Given the description of an element on the screen output the (x, y) to click on. 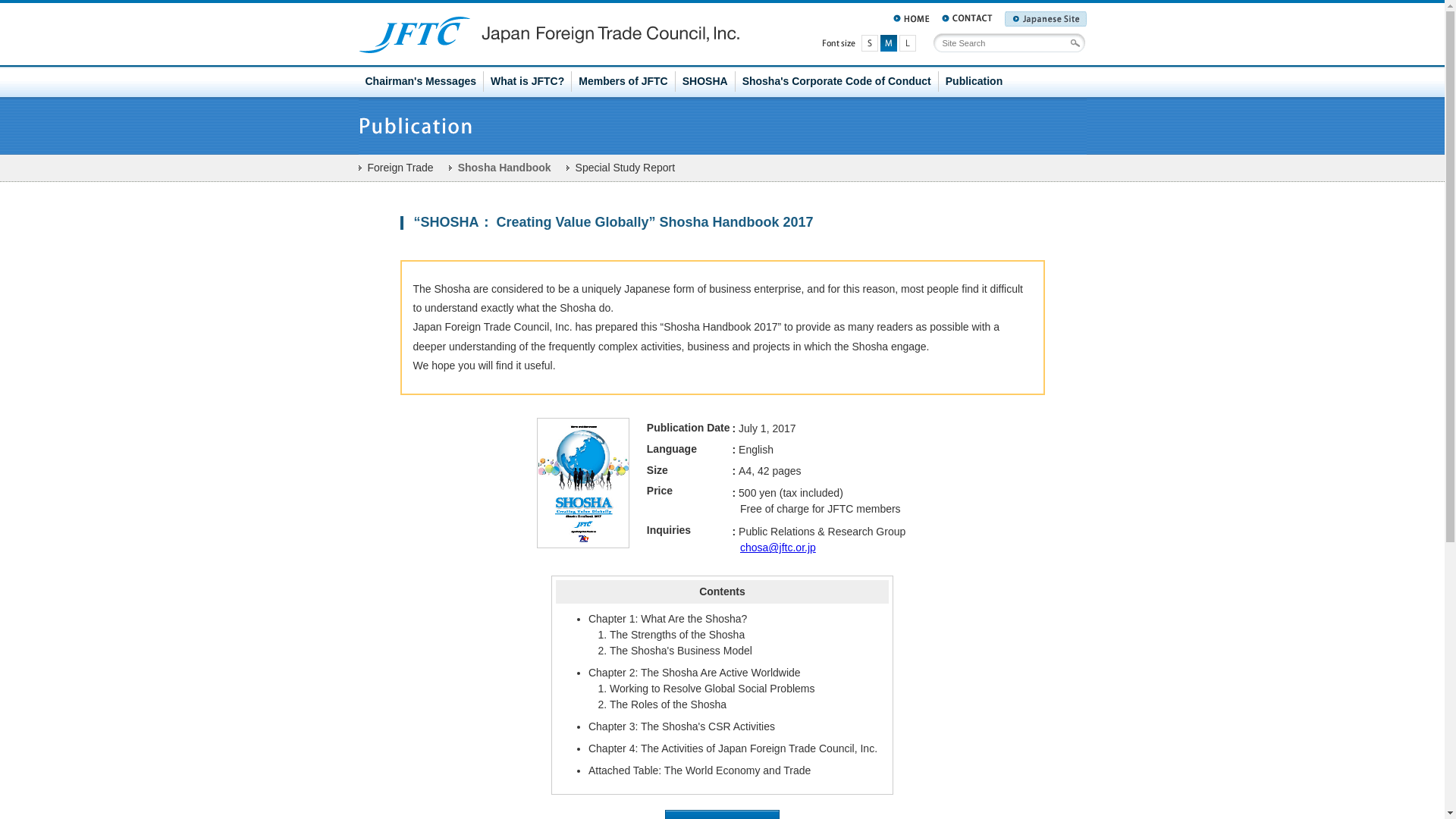
Special Study Report (620, 167)
Shosha Handbook (499, 167)
SHOSHA (705, 81)
What is JFTC? (527, 81)
Shosha's Corporate Code of Conduct (837, 81)
Download PDF (721, 814)
Chairman's Messages (420, 81)
Foreign Trade (395, 167)
Publication (974, 81)
Members of JFTC (623, 81)
